Given the description of an element on the screen output the (x, y) to click on. 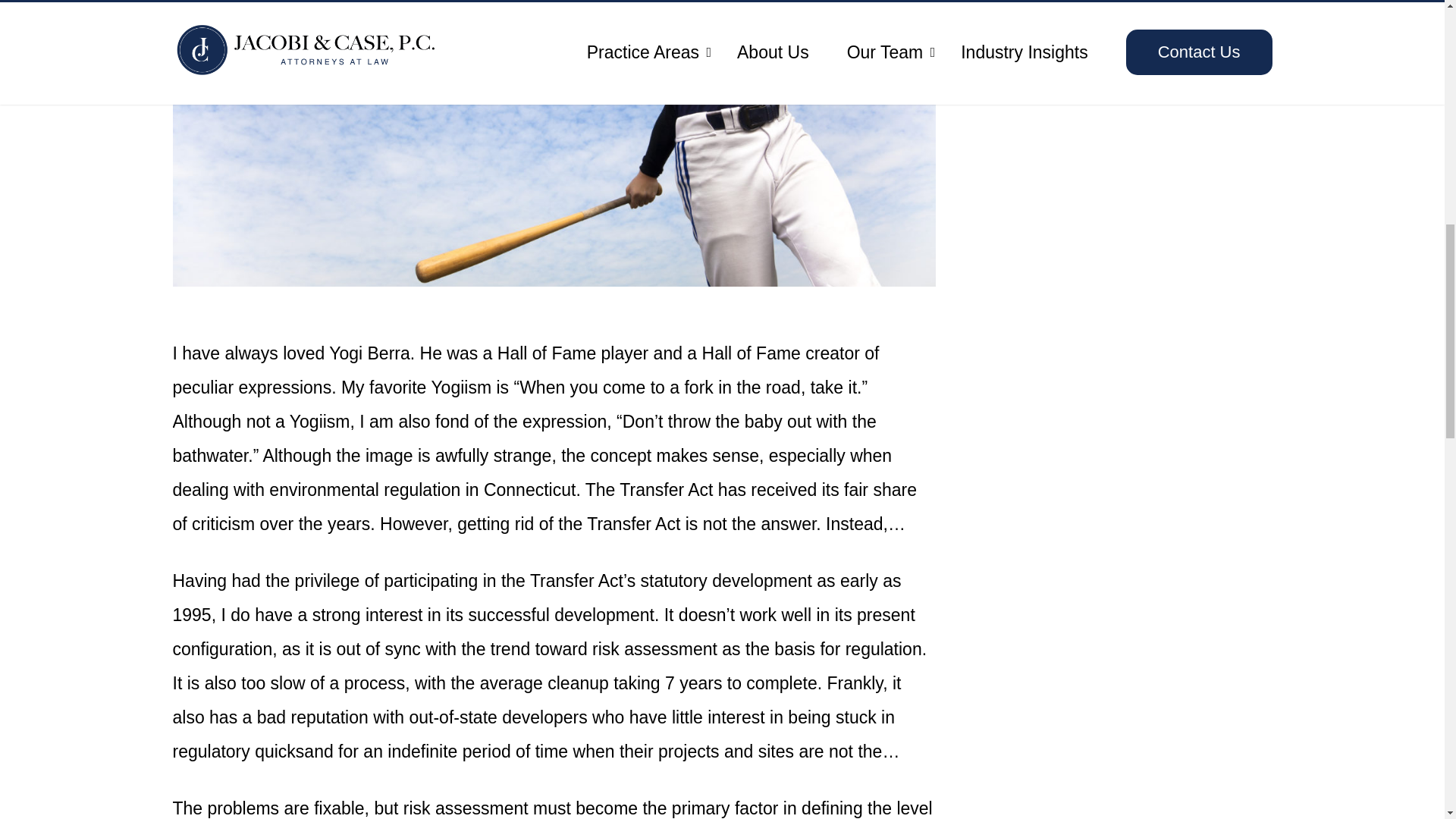
Paul Jacobi (1137, 36)
